Given the description of an element on the screen output the (x, y) to click on. 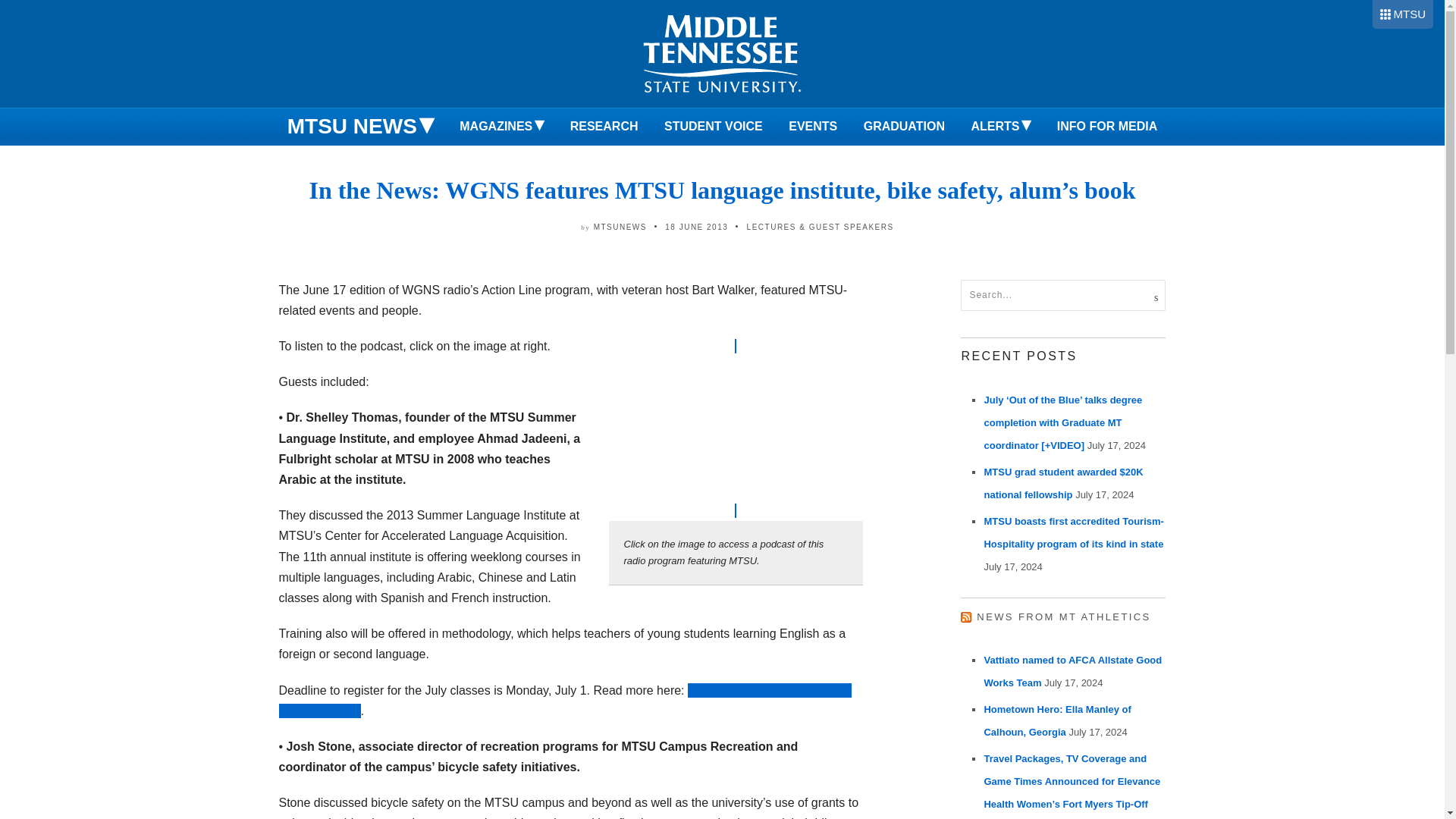
Posts by mtsunews (620, 226)
WGNS-logo (734, 427)
June 18, 2013 12:36 (696, 226)
